Given the description of an element on the screen output the (x, y) to click on. 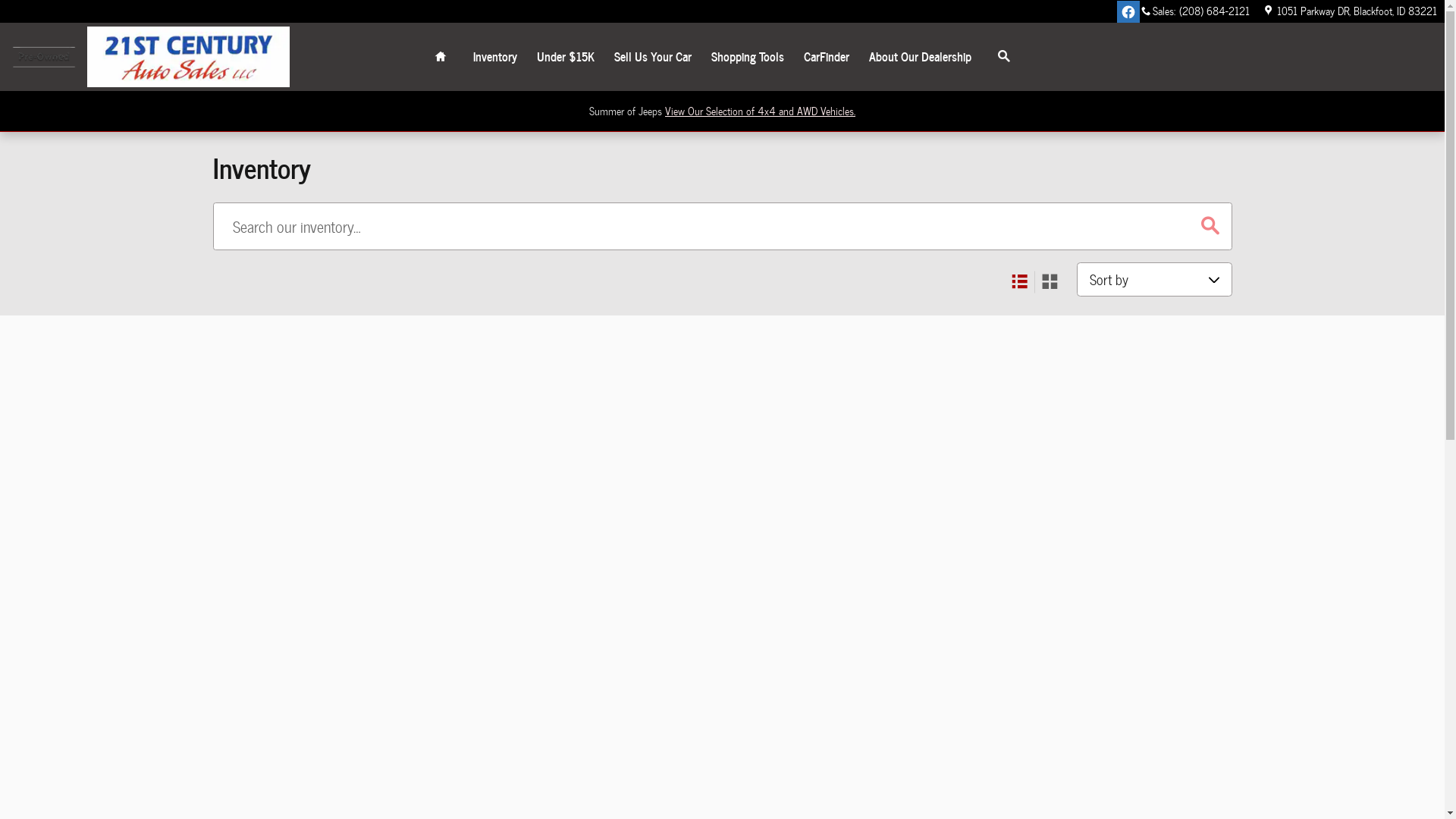
Visit us on Facebook Element type: hover (1128, 11)
Home Element type: text (440, 56)
Skip to main content Element type: text (0, 0)
Search Element type: text (1003, 56)
1051 Parkway DR Blackfoot, ID 83221 Element type: text (1350, 10)
Sell Us Your Car Element type: text (652, 56)
Search Element type: hover (1210, 226)
Home Element type: hover (43, 56)
Inventory Element type: text (495, 56)
View Our Selection of 4x4 and AWD Vehicles. Element type: text (760, 110)
CarFinder Element type: text (826, 56)
Under $15K Element type: text (565, 56)
About Our Dealership Element type: text (920, 56)
Shopping Tools Element type: text (747, 56)
